Given the description of an element on the screen output the (x, y) to click on. 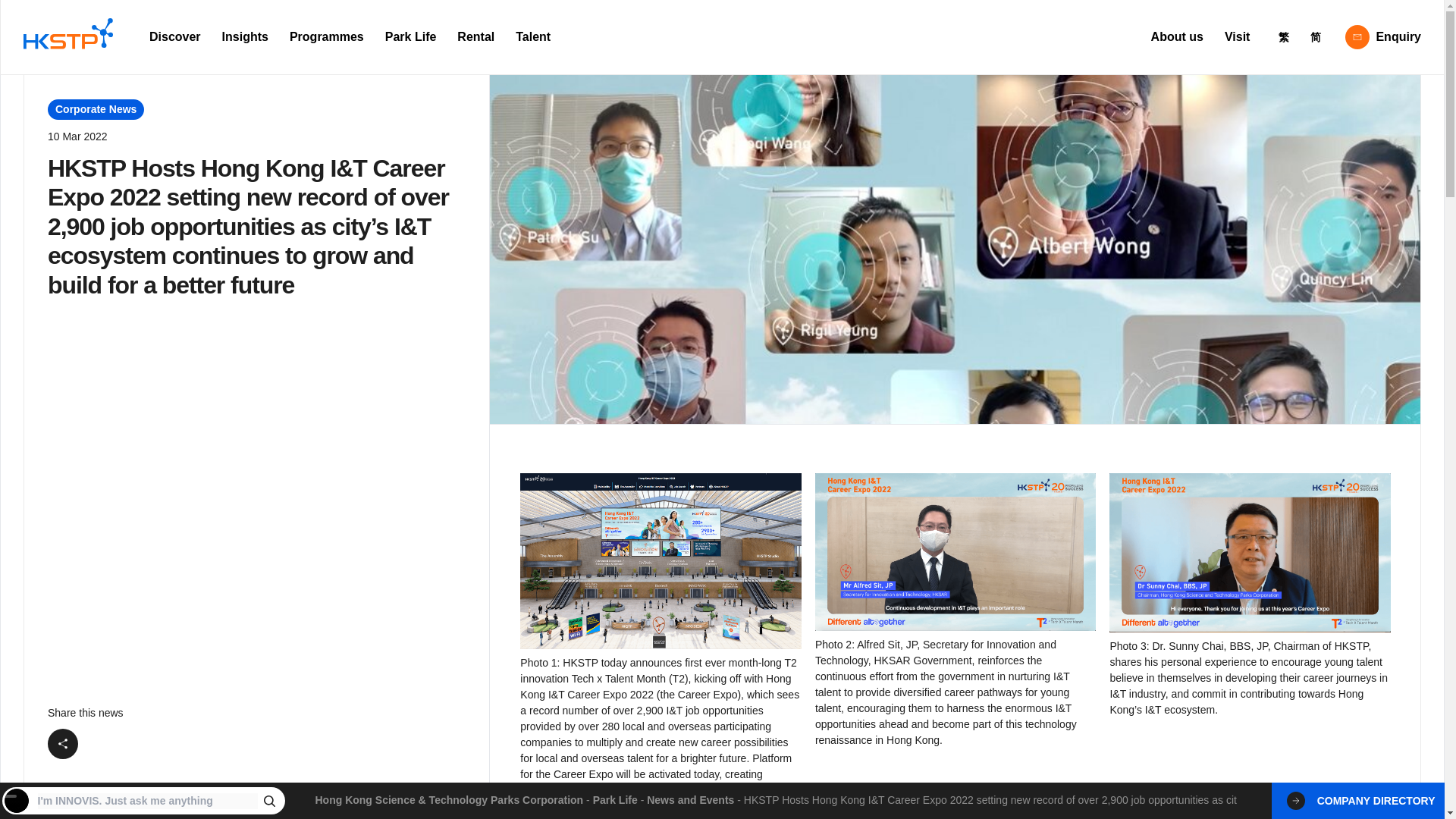
Programmes (326, 37)
Discover (174, 37)
Park Life (410, 37)
News and Events (689, 799)
Insights (245, 37)
Park Life (614, 799)
